Given the description of an element on the screen output the (x, y) to click on. 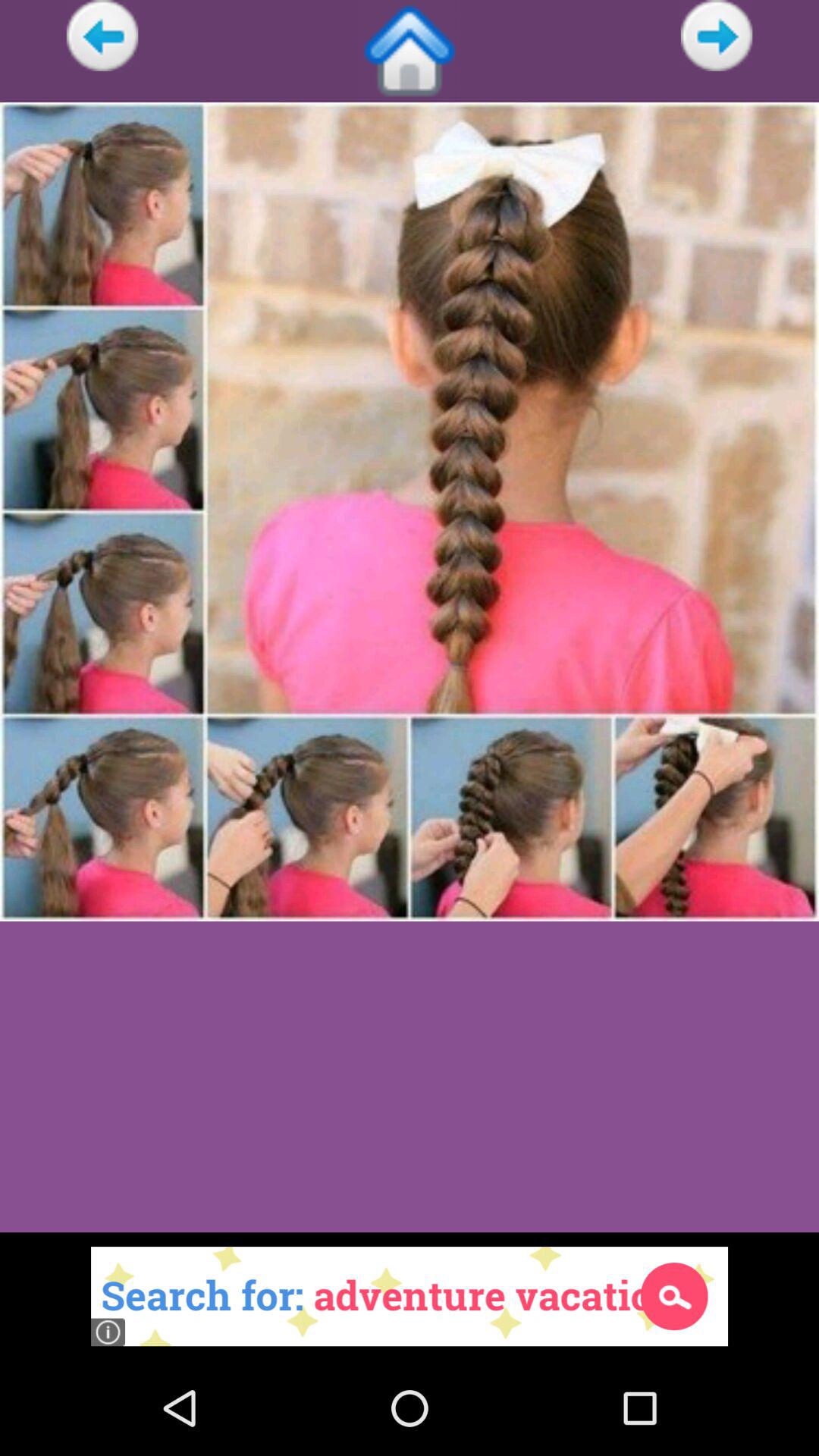
open icon at the bottom (409, 1296)
